Given the description of an element on the screen output the (x, y) to click on. 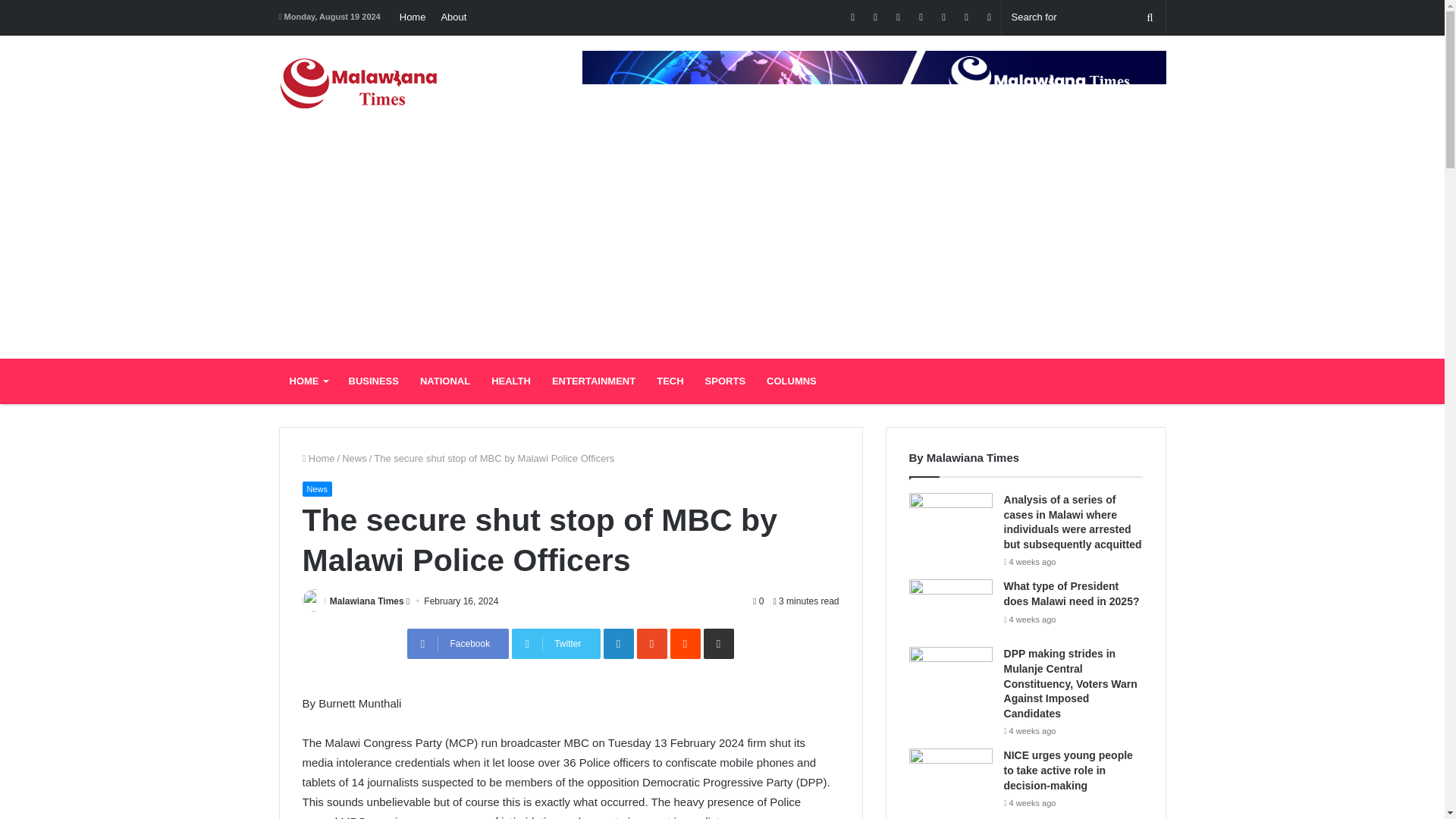
Search for (1083, 17)
News (354, 457)
News (316, 488)
Home (317, 457)
About (453, 17)
0 (757, 601)
BUSINESS (373, 380)
Twitter (555, 643)
Reddit (684, 643)
NATIONAL (444, 380)
